Given the description of an element on the screen output the (x, y) to click on. 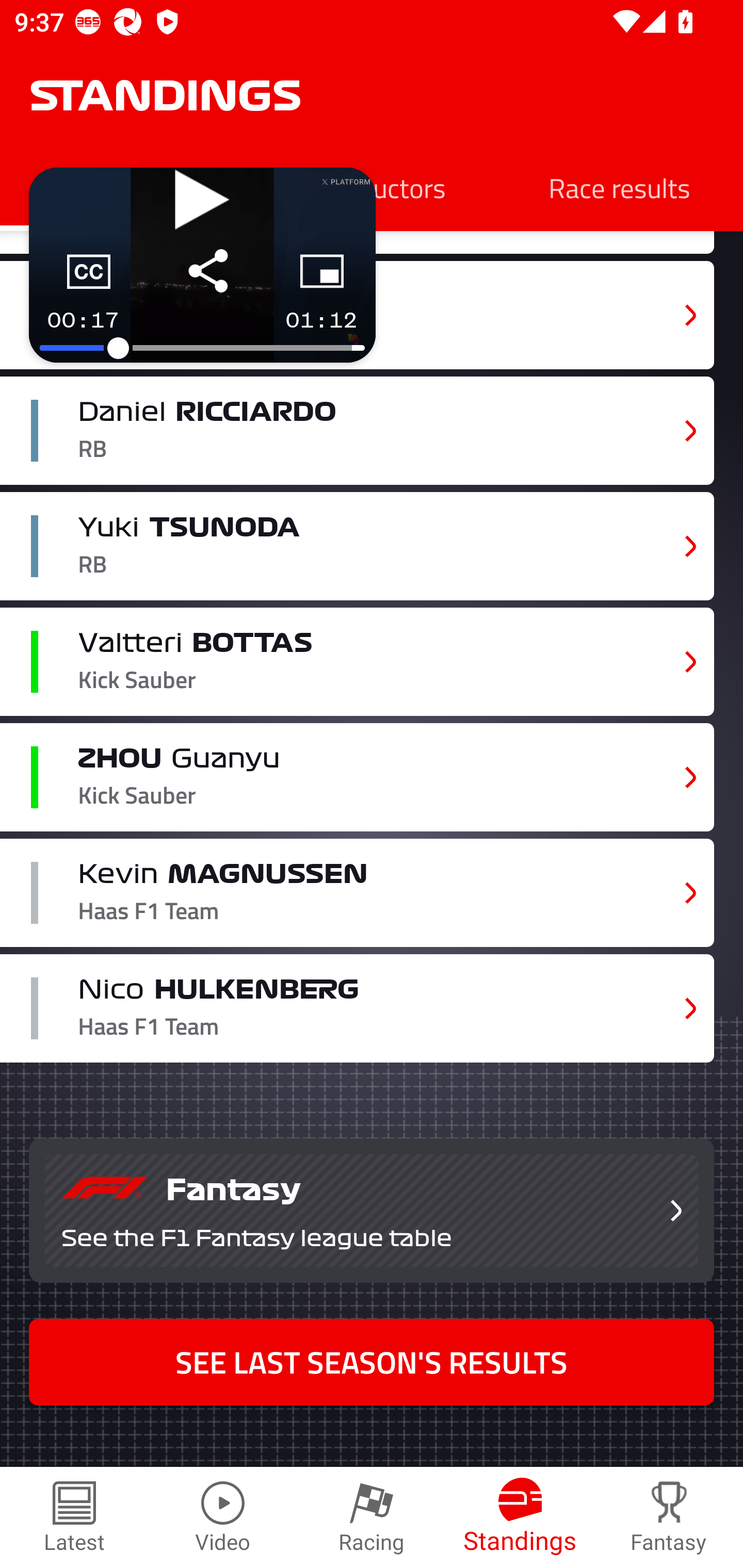
Race results (619, 187)
Daniel RICCIARDO RB (357, 430)
Yuki TSUNODA RB (357, 546)
Valtteri BOTTAS Kick Sauber (357, 662)
ZHOU Guanyu Kick Sauber (357, 776)
Kevin MAGNUSSEN Haas F1 Team (357, 892)
Nico HULKENBERG Haas F1 Team (357, 1008)
Fantasy See the F1 Fantasy league table (371, 1210)
SEE LAST SEASON'S RESULTS (371, 1361)
Latest (74, 1517)
Video (222, 1517)
Racing (371, 1517)
Fantasy (668, 1517)
